Given the description of an element on the screen output the (x, y) to click on. 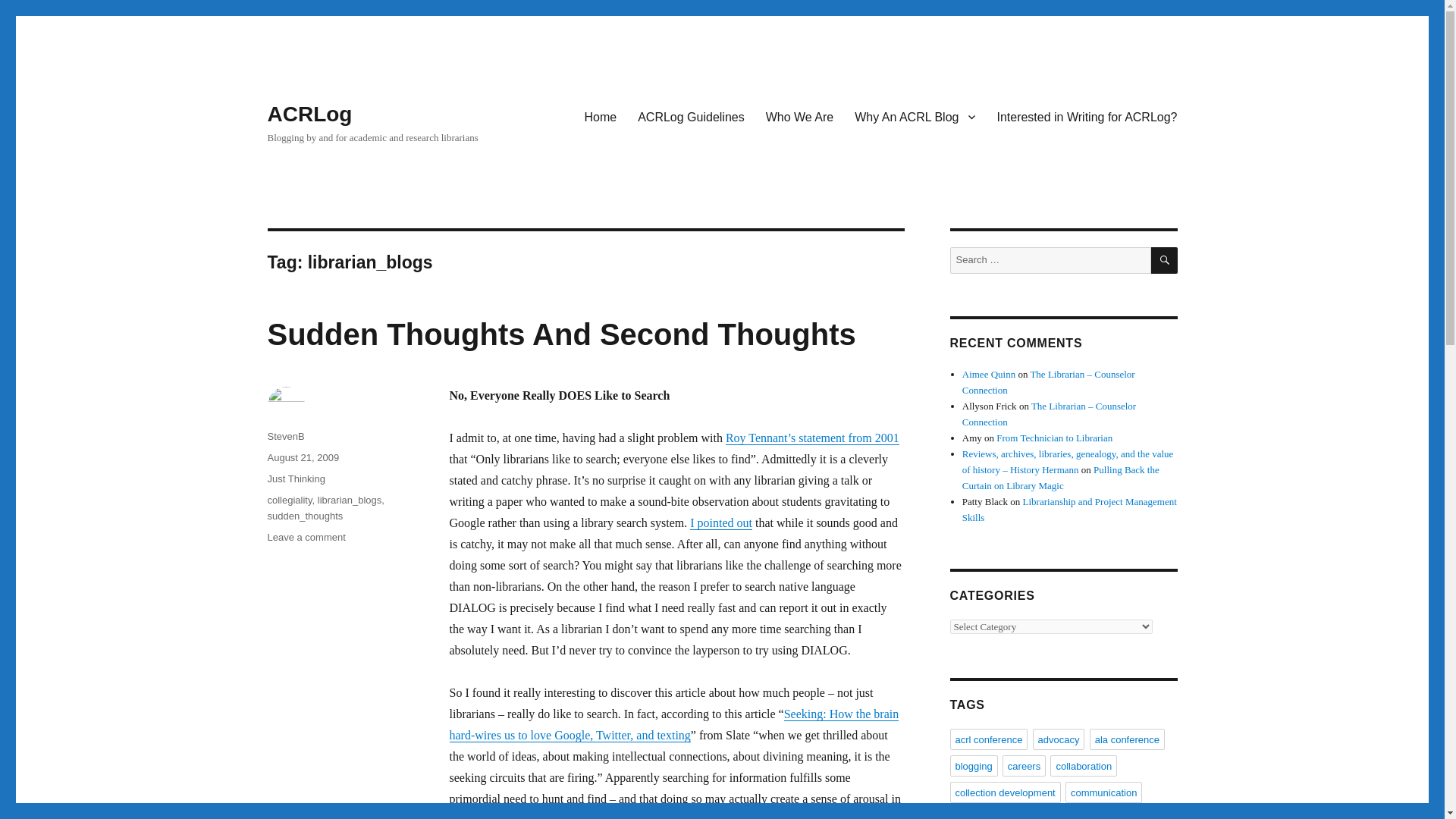
Pulling Back the Curtain on Library Magic (1060, 477)
Librarianship and Project Management Skills (1069, 509)
SEARCH (1164, 260)
I pointed out (721, 522)
ala conference (1126, 739)
acrl conference (988, 739)
Aimee Quinn (988, 374)
StevenB (285, 436)
Just Thinking (295, 478)
Home (600, 116)
